Given the description of an element on the screen output the (x, y) to click on. 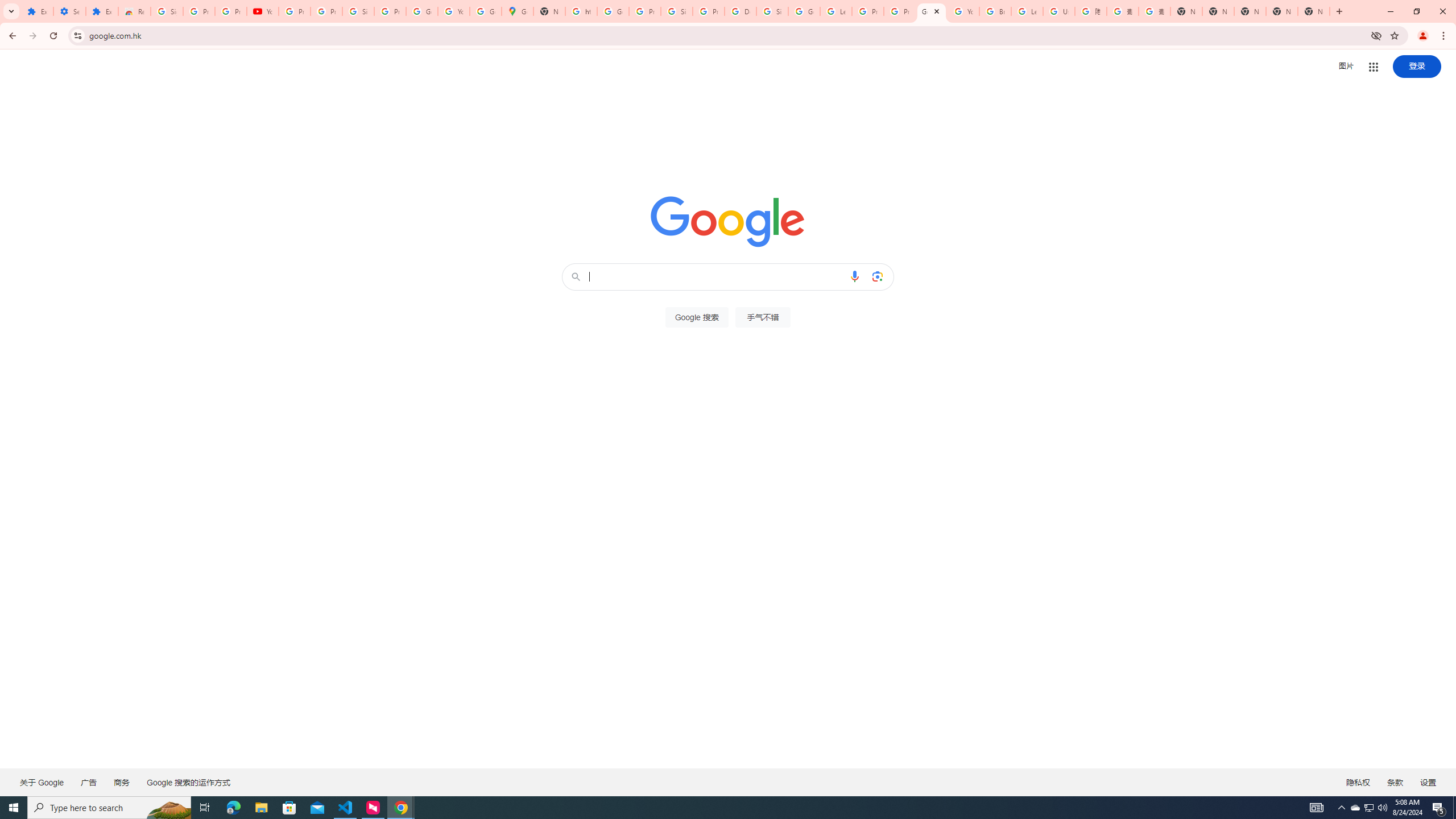
https://scholar.google.com/ (581, 11)
YouTube (262, 11)
